Given the description of an element on the screen output the (x, y) to click on. 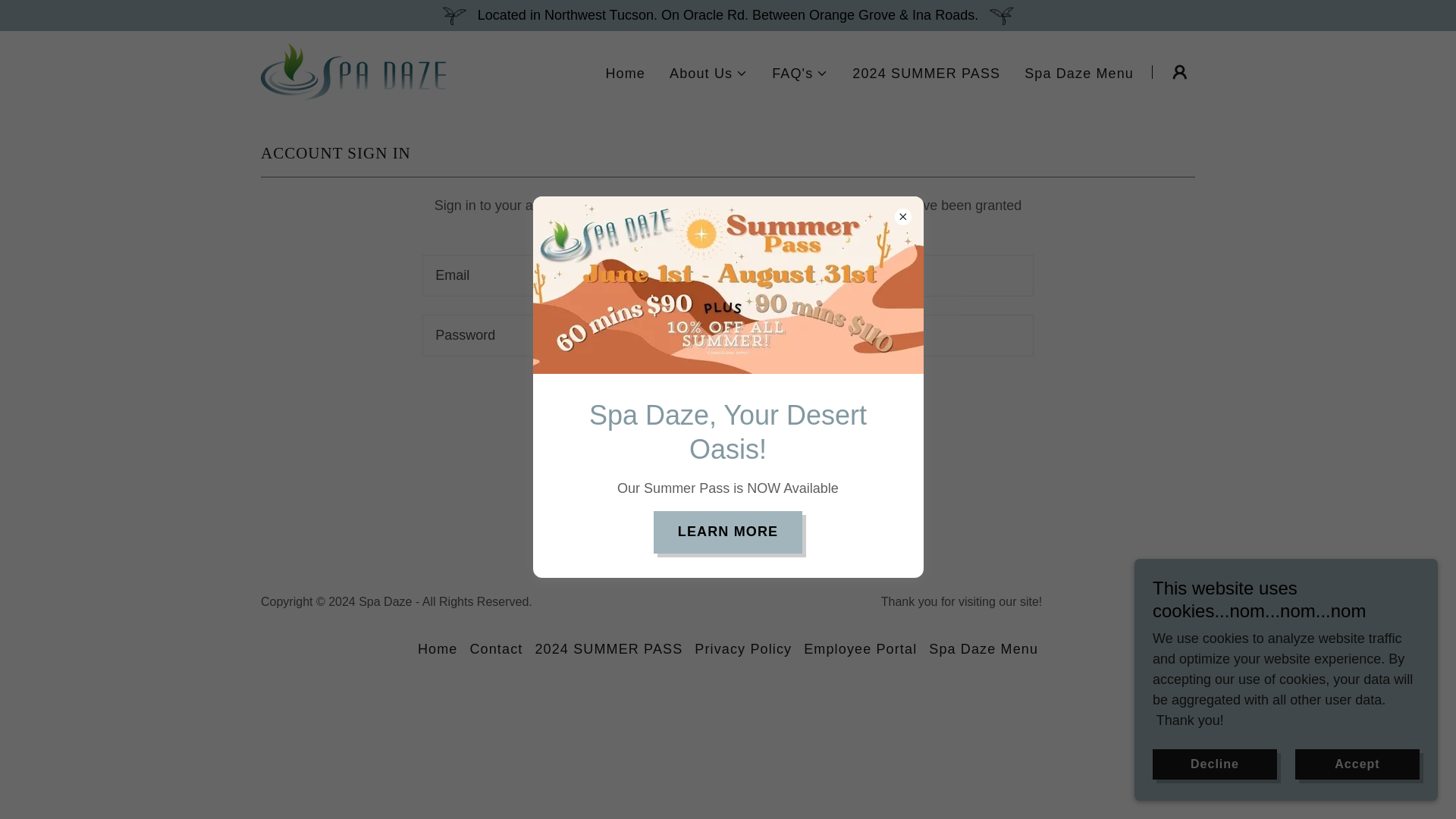
Spa Daze (352, 70)
Home (624, 73)
About Us (708, 73)
FAQ's (799, 73)
Spa Daze Menu (1079, 73)
2024 SUMMER PASS (925, 73)
